Given the description of an element on the screen output the (x, y) to click on. 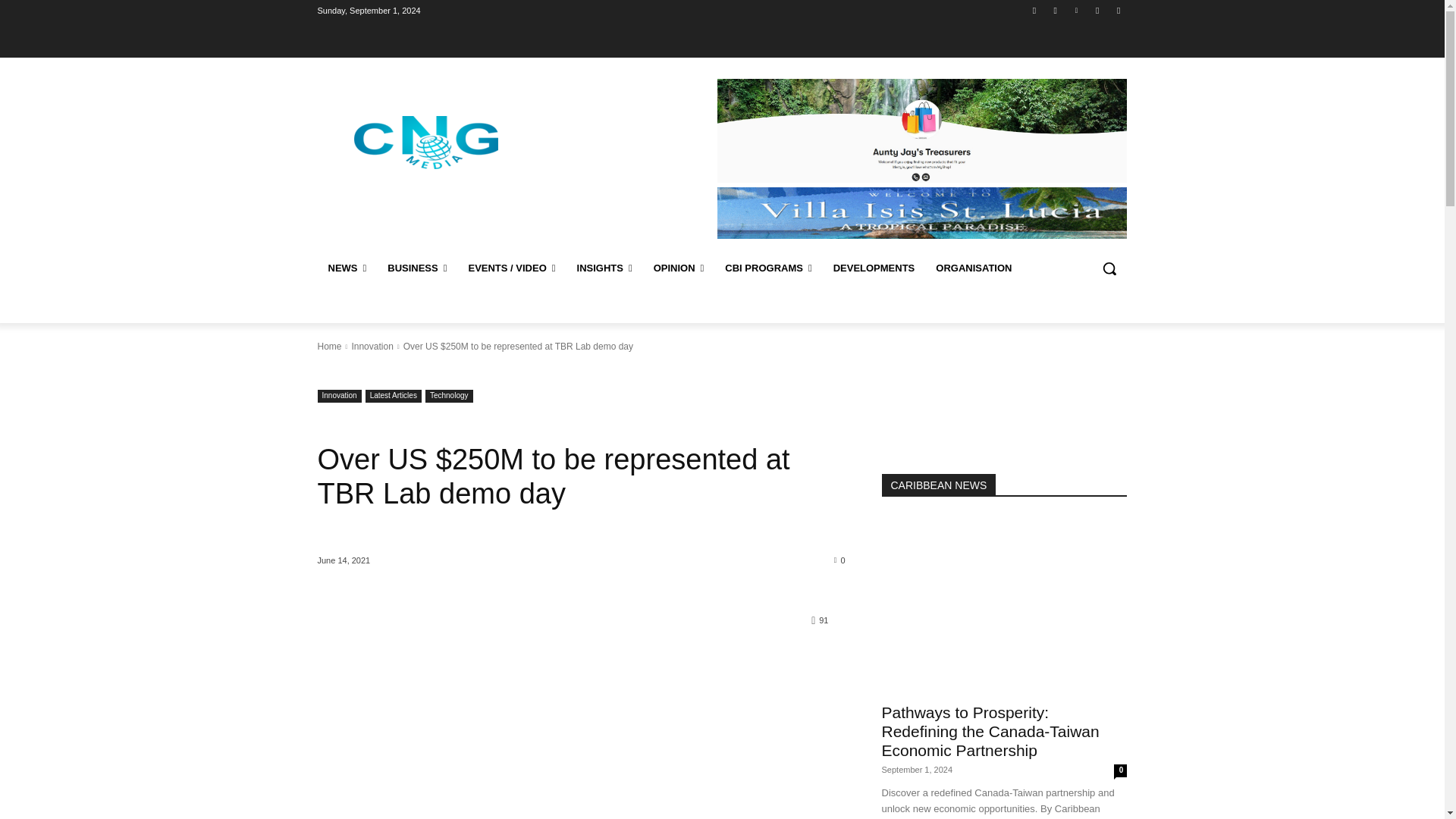
Facebook (1034, 9)
Linkedin (1075, 9)
Youtube (1117, 9)
Twitter (1097, 9)
NEWS (347, 268)
Instagram (1055, 9)
